Given the description of an element on the screen output the (x, y) to click on. 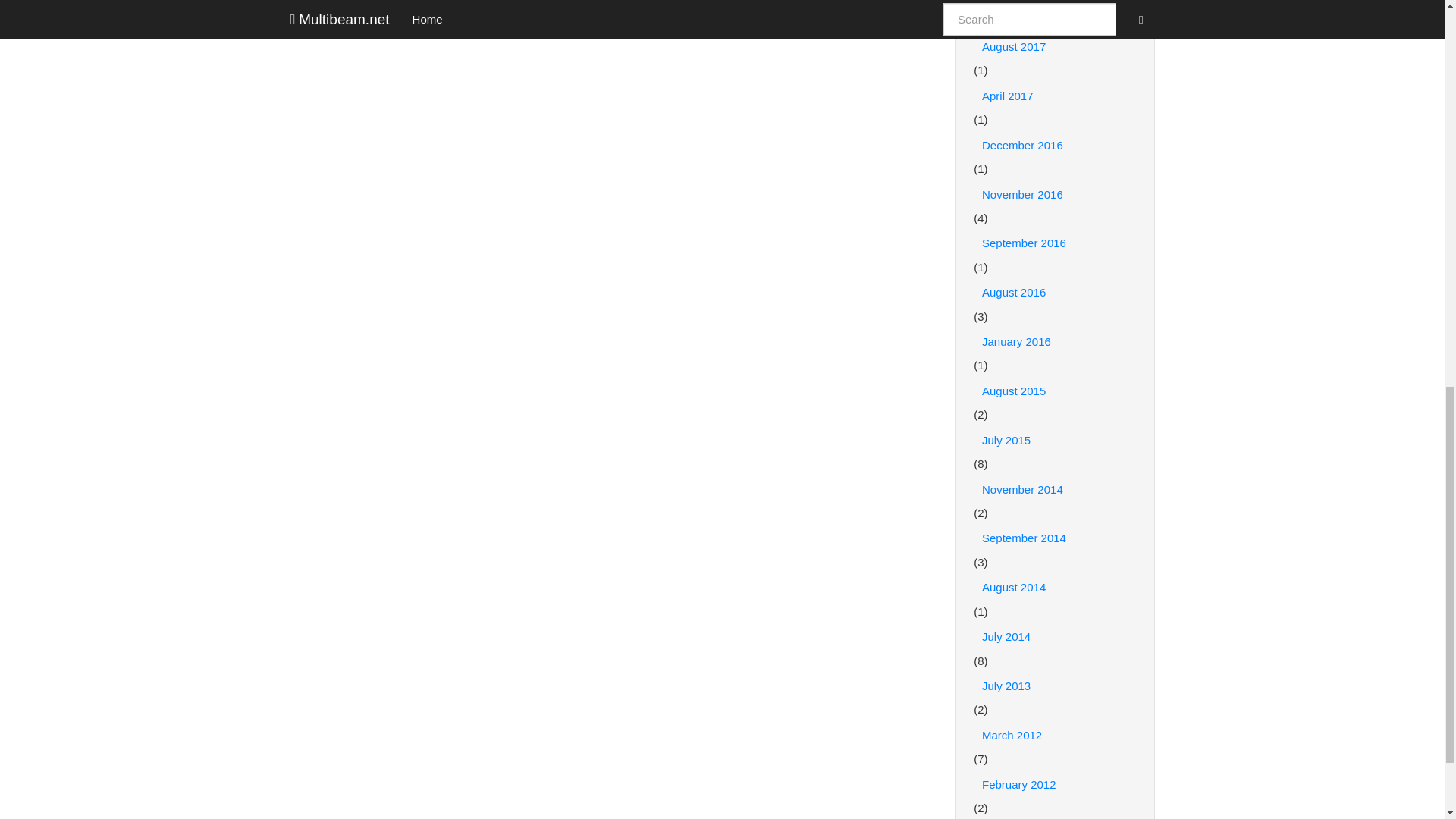
August 2017 (1055, 46)
April 2017 (1055, 95)
October 2020 (1055, 6)
